Given the description of an element on the screen output the (x, y) to click on. 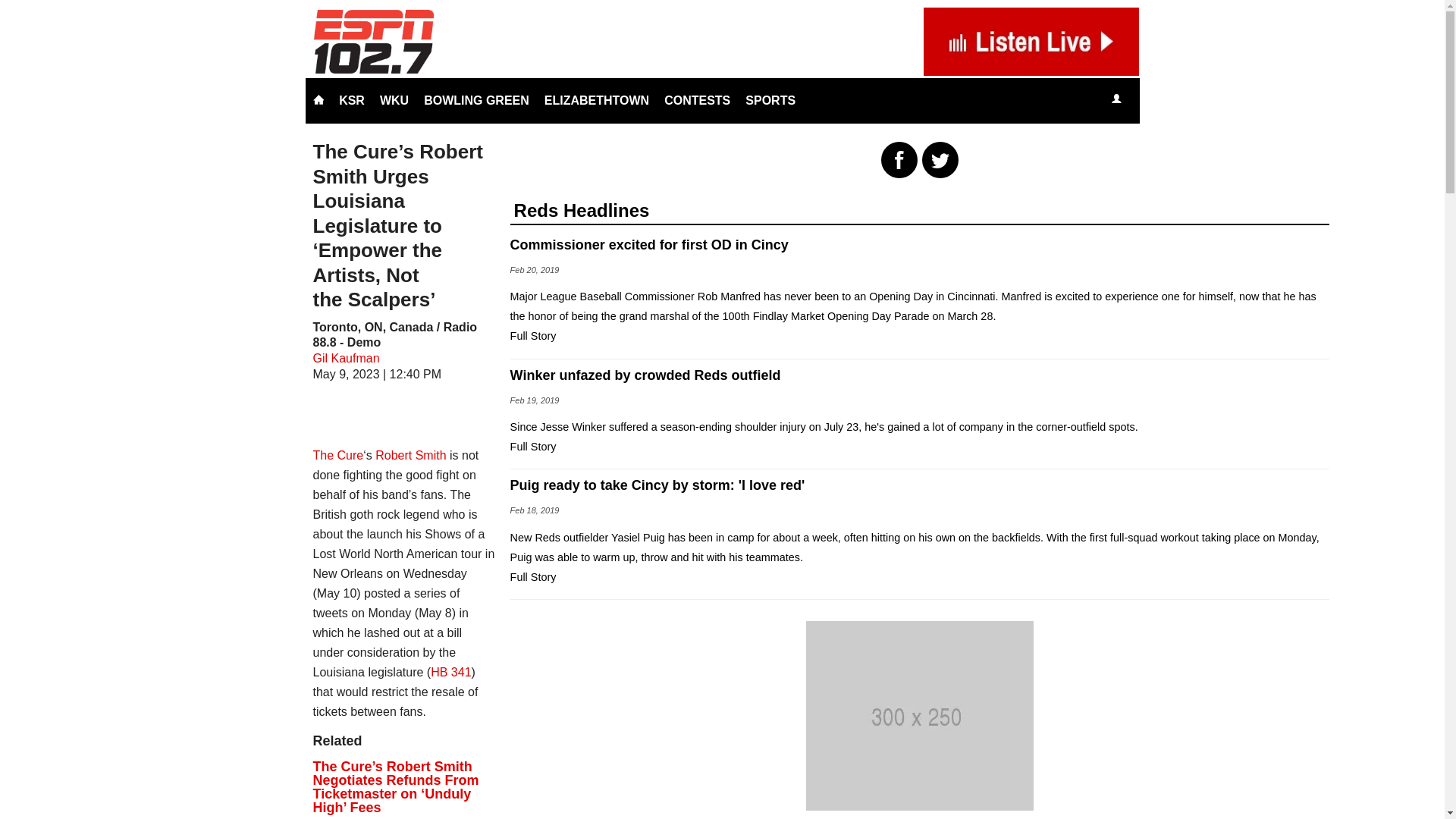
Sign In (1116, 99)
Robert Smith (410, 454)
HB 341 (450, 671)
KSR (351, 100)
ELIZABETHTOWN (596, 100)
BOWLING GREEN (476, 100)
Gil Kaufman (345, 358)
HOME (318, 99)
Sign In (1115, 100)
SPORTS (770, 100)
